Given the description of an element on the screen output the (x, y) to click on. 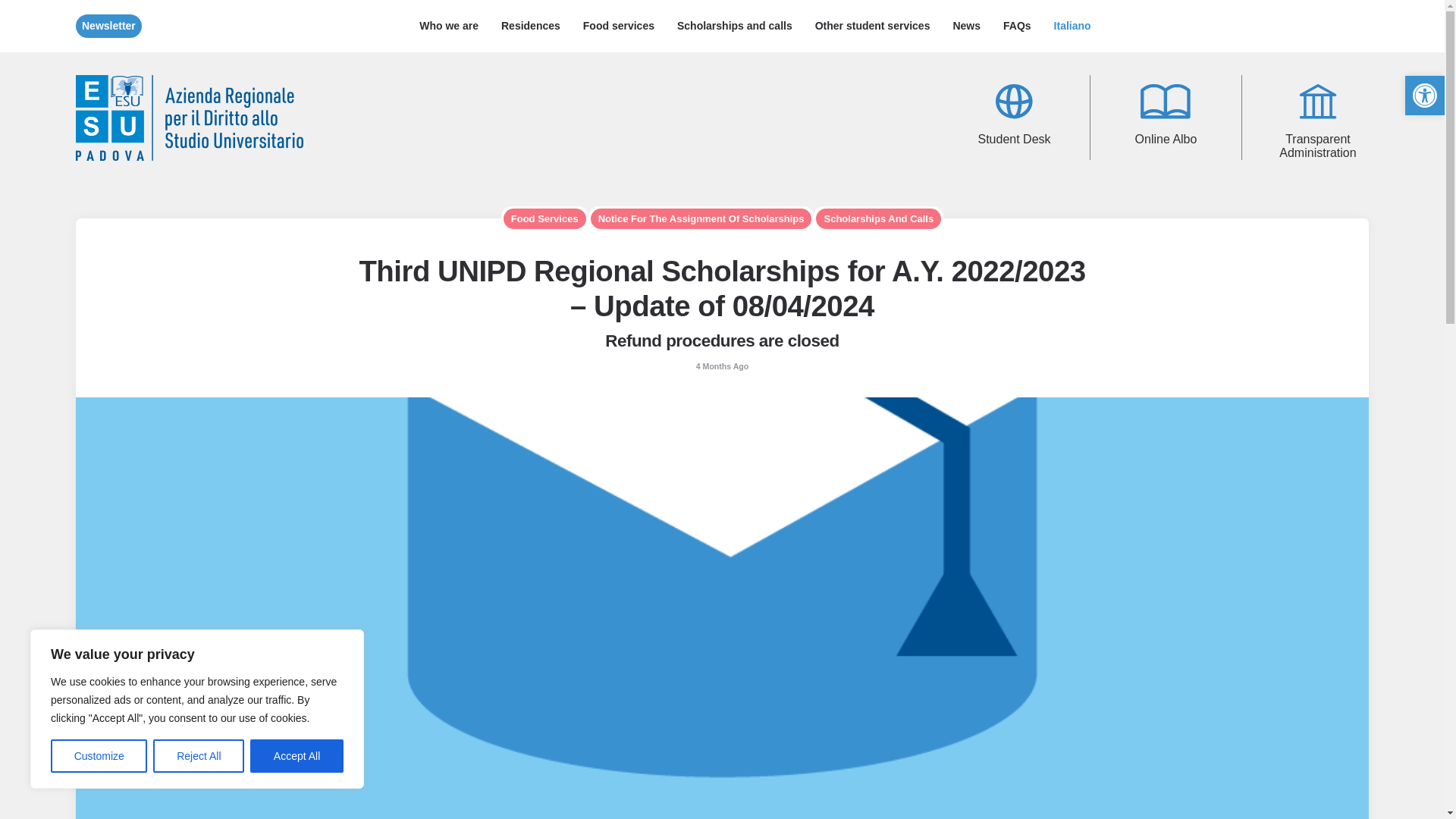
Food services (618, 26)
Newsletter (108, 25)
Other student services (872, 26)
Online Albo (1165, 101)
Residences (530, 26)
Scholarships and calls (734, 26)
Reject All (198, 756)
Online Albo (1165, 117)
Who we are (448, 26)
Transparent Administration (1317, 117)
